Given the description of an element on the screen output the (x, y) to click on. 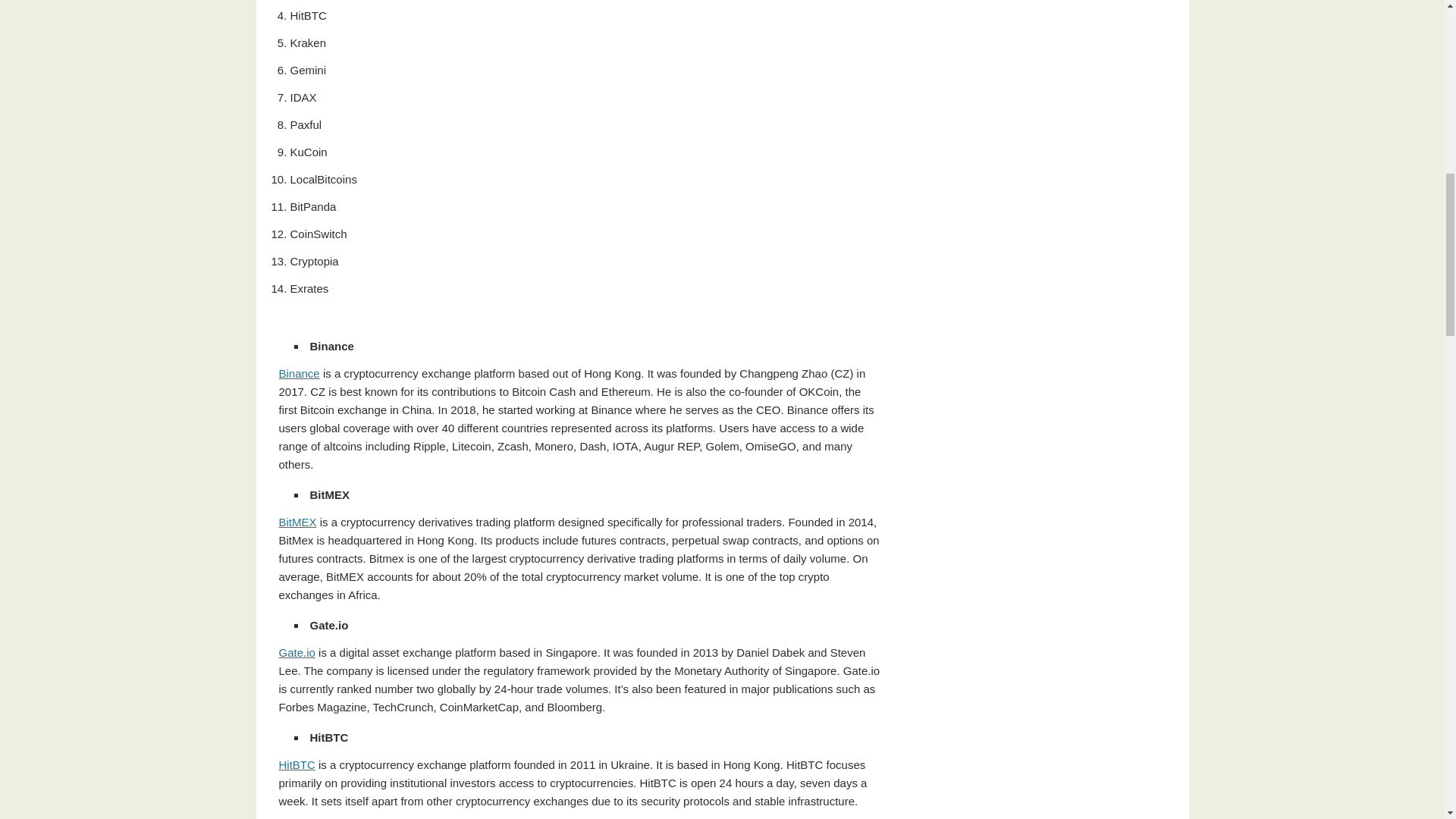
Binance (299, 373)
HitBTC (297, 764)
BitMEX (298, 521)
Gate.io (297, 652)
